Given the description of an element on the screen output the (x, y) to click on. 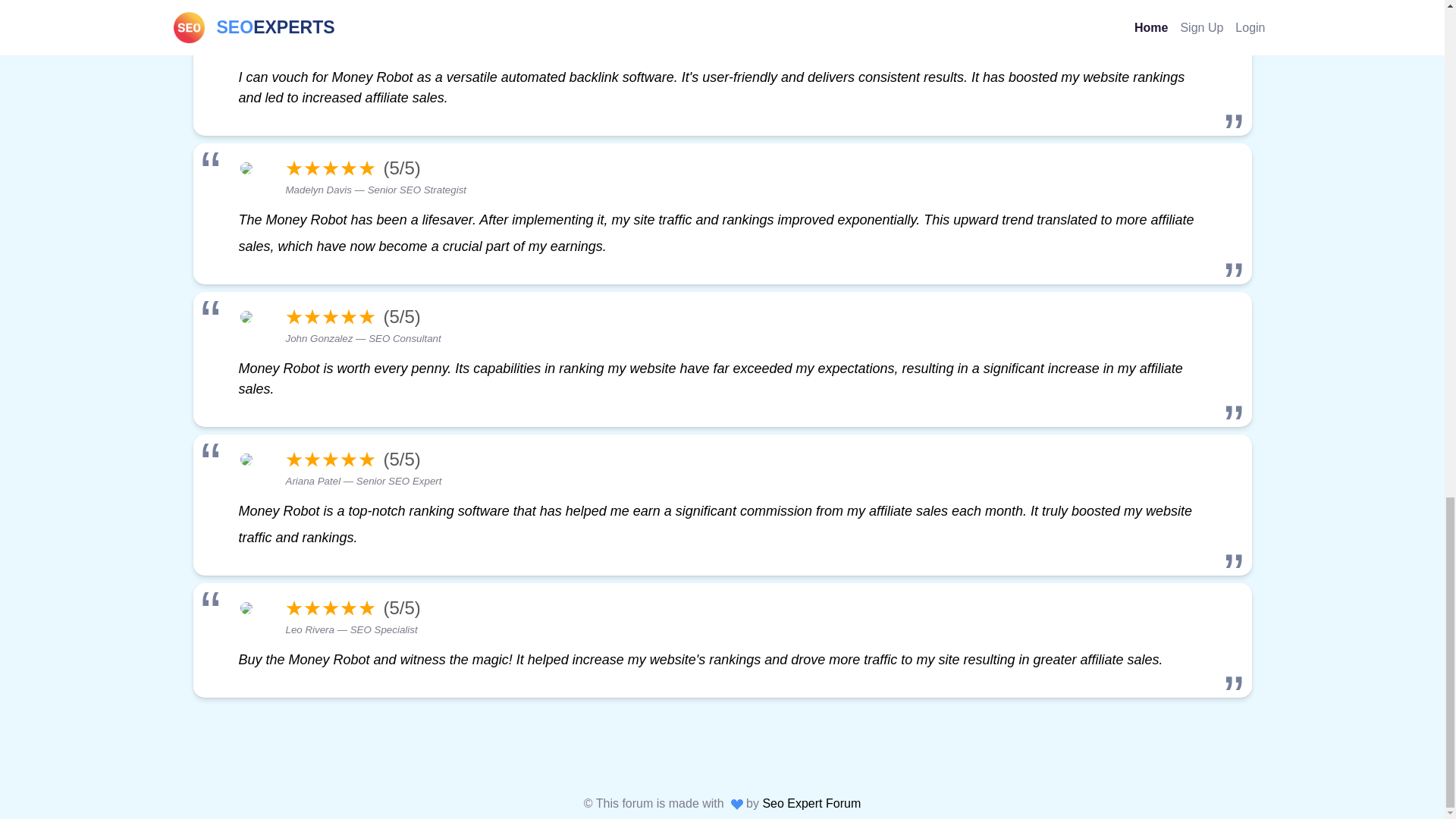
Seo Expert Forum (810, 802)
